Given the description of an element on the screen output the (x, y) to click on. 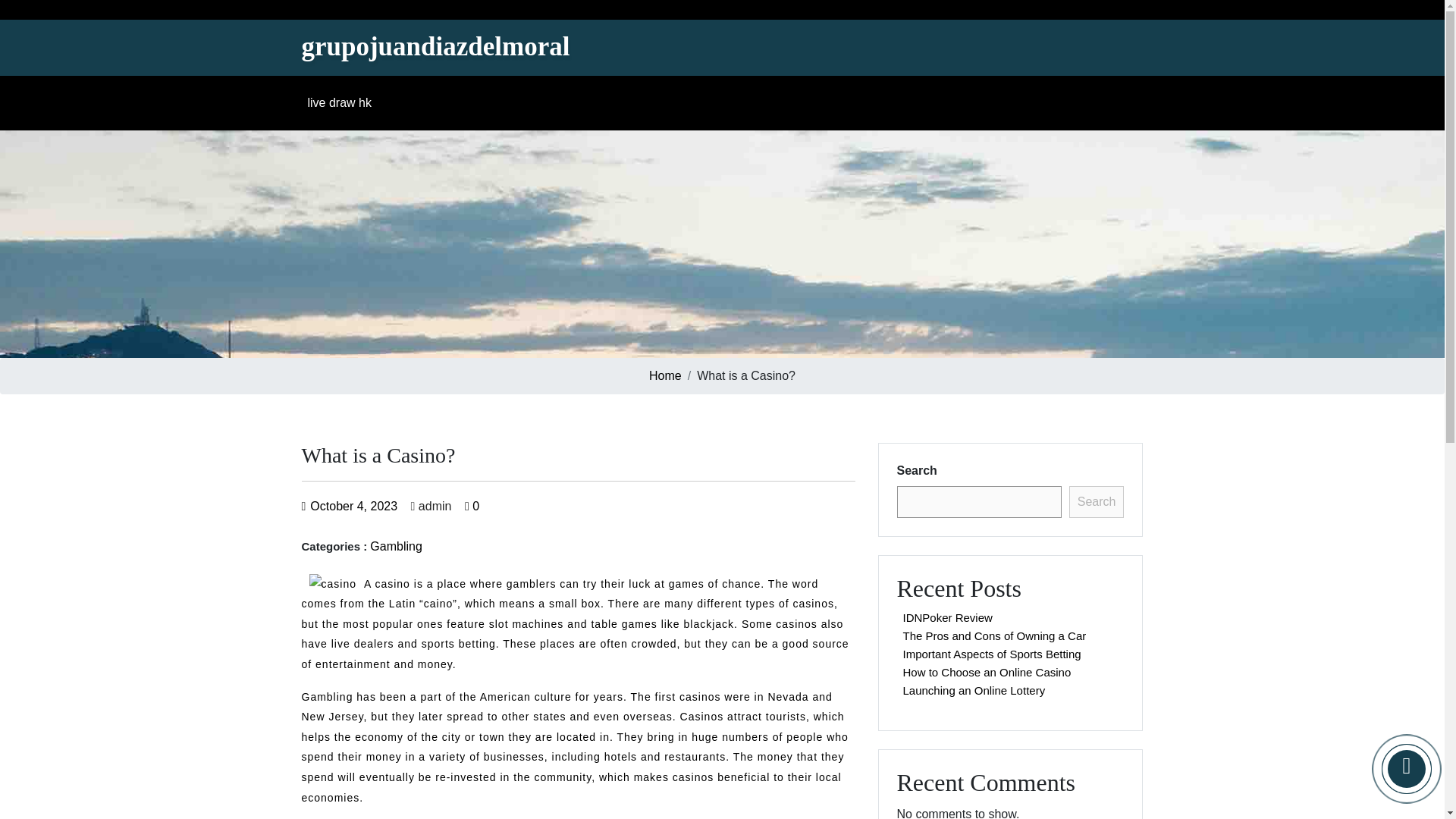
Search (1096, 501)
How to Choose an Online Casino (986, 672)
IDNPoker Review (946, 617)
The Pros and Cons of Owning a Car (994, 635)
live draw hk (341, 102)
Launching an Online Lottery (973, 690)
admin (430, 505)
Gambling (395, 545)
live draw hk (341, 102)
Home (665, 375)
What is a Casino? (435, 46)
grupojuandiazdelmoral (435, 46)
Important Aspects of Sports Betting (991, 653)
